Given the description of an element on the screen output the (x, y) to click on. 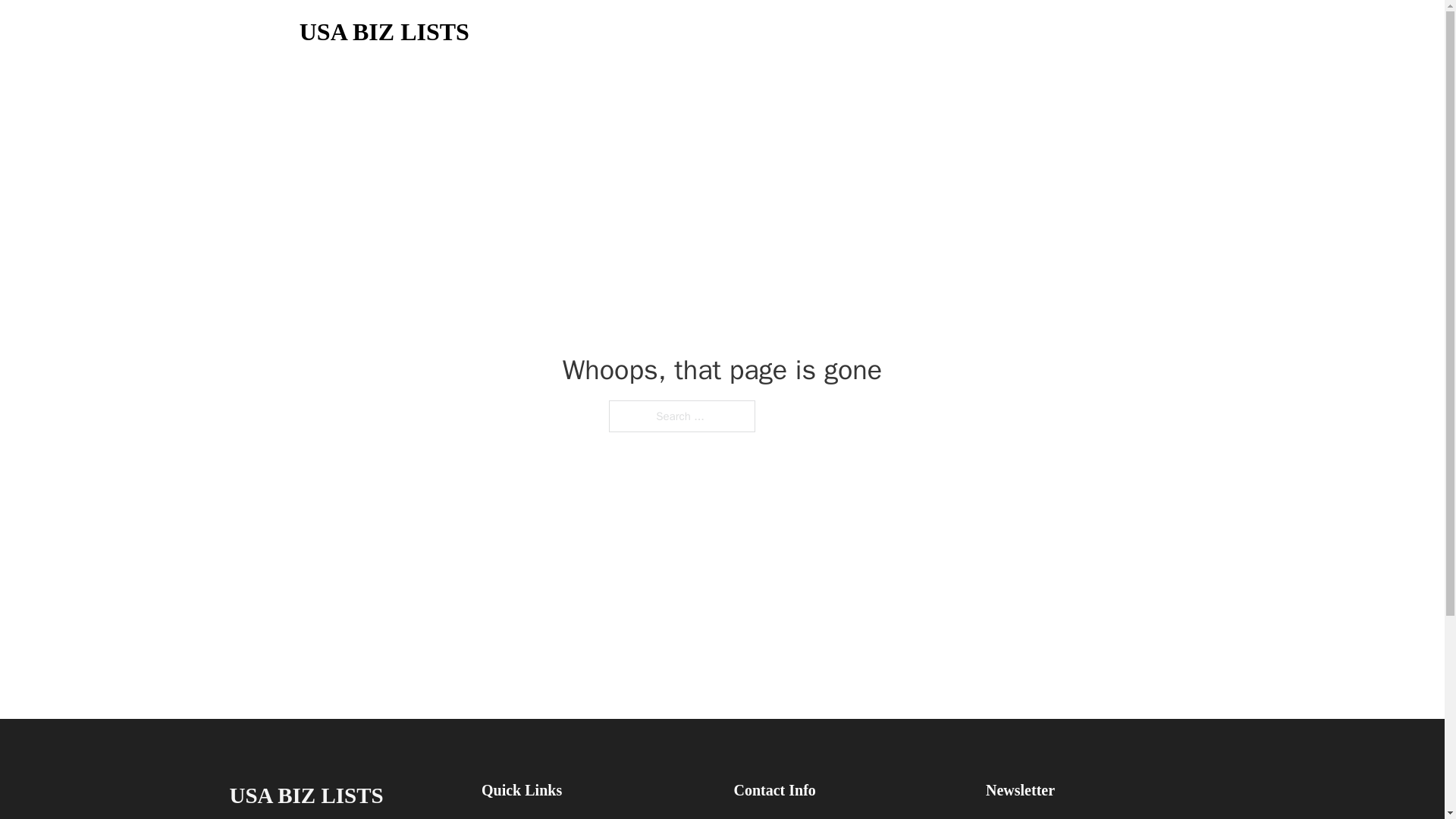
USA BIZ LISTS (305, 795)
USA BIZ LISTS (383, 31)
